Given the description of an element on the screen output the (x, y) to click on. 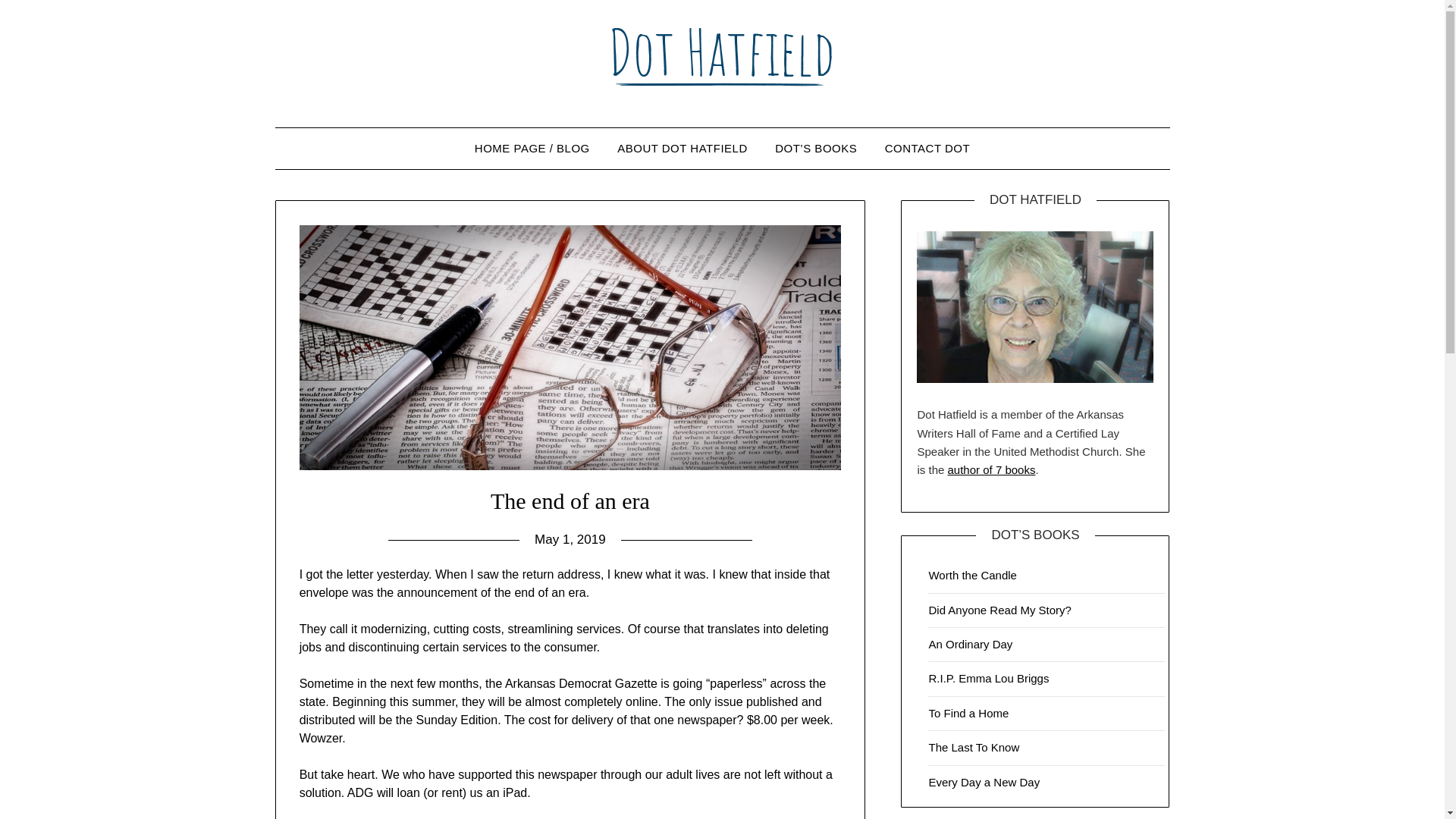
author of 7 books (991, 469)
To Find a Home (968, 712)
ABOUT DOT HATFIELD (682, 147)
Worth the Candle (972, 574)
CONTACT DOT (926, 147)
An Ordinary Day (969, 644)
Every Day a New Day (983, 781)
The Last To Know (973, 747)
May 1, 2019 (569, 539)
Did Anyone Read My Story? (999, 609)
R.I.P. Emma Lou Briggs (988, 677)
